Given the description of an element on the screen output the (x, y) to click on. 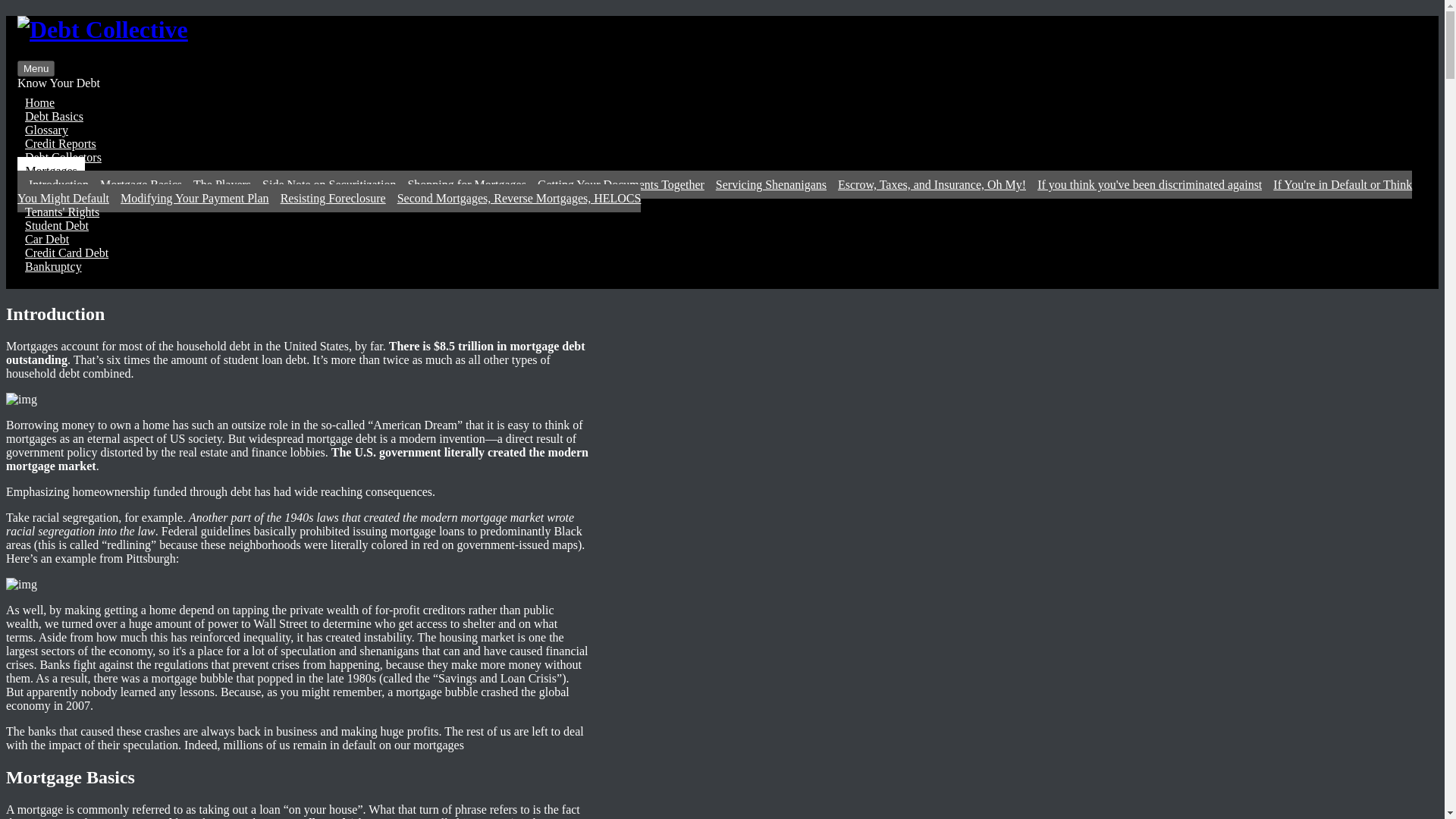
Escrow, Taxes, and Insurance, Oh My! (926, 184)
Bankruptcy (52, 266)
Tenants' Rights (61, 212)
Credit Reports (60, 143)
Side Note on Securitization (323, 184)
Debt Collectors (63, 157)
Shopping for Mortgages (460, 184)
Introduction (52, 184)
Menu (36, 68)
Student Debt (56, 225)
